Given the description of an element on the screen output the (x, y) to click on. 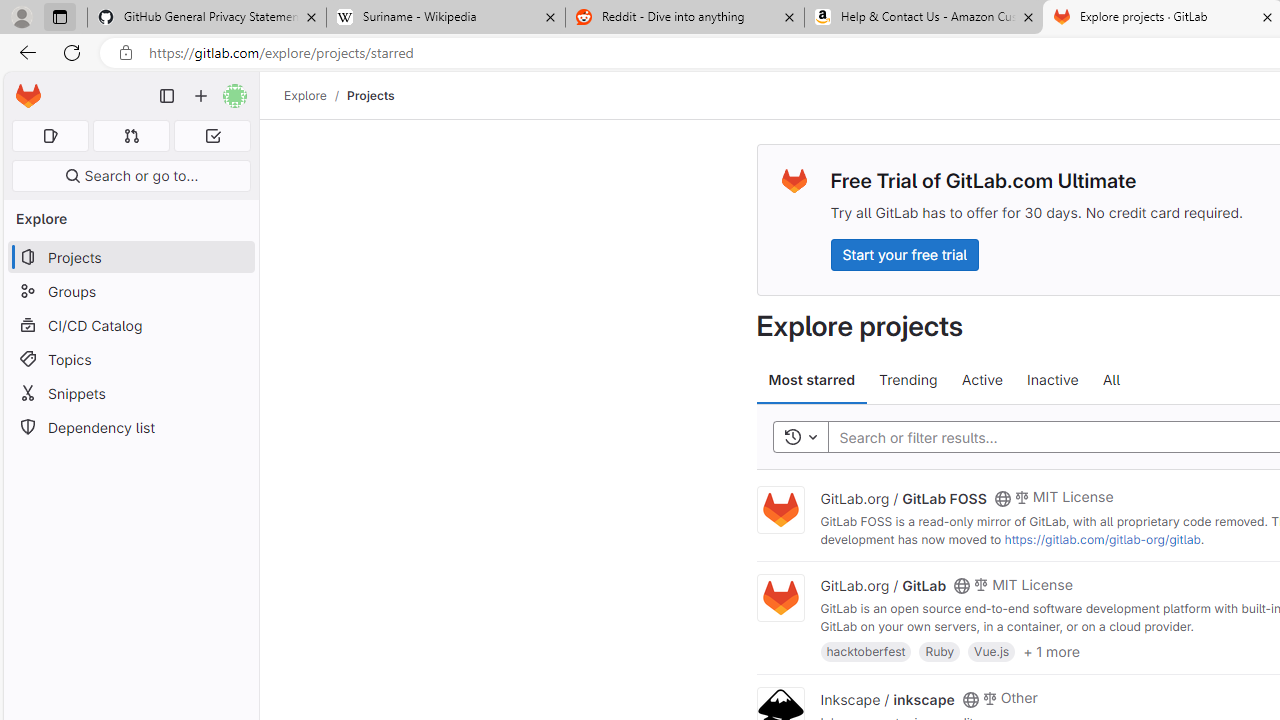
Snippets (130, 393)
Explore (305, 95)
Groups (130, 291)
Primary navigation sidebar (167, 96)
Inactive (1052, 379)
Ruby (940, 650)
Homepage (27, 96)
Topics (130, 358)
Dependency list (130, 427)
Topics (130, 358)
Groups (130, 291)
